Given the description of an element on the screen output the (x, y) to click on. 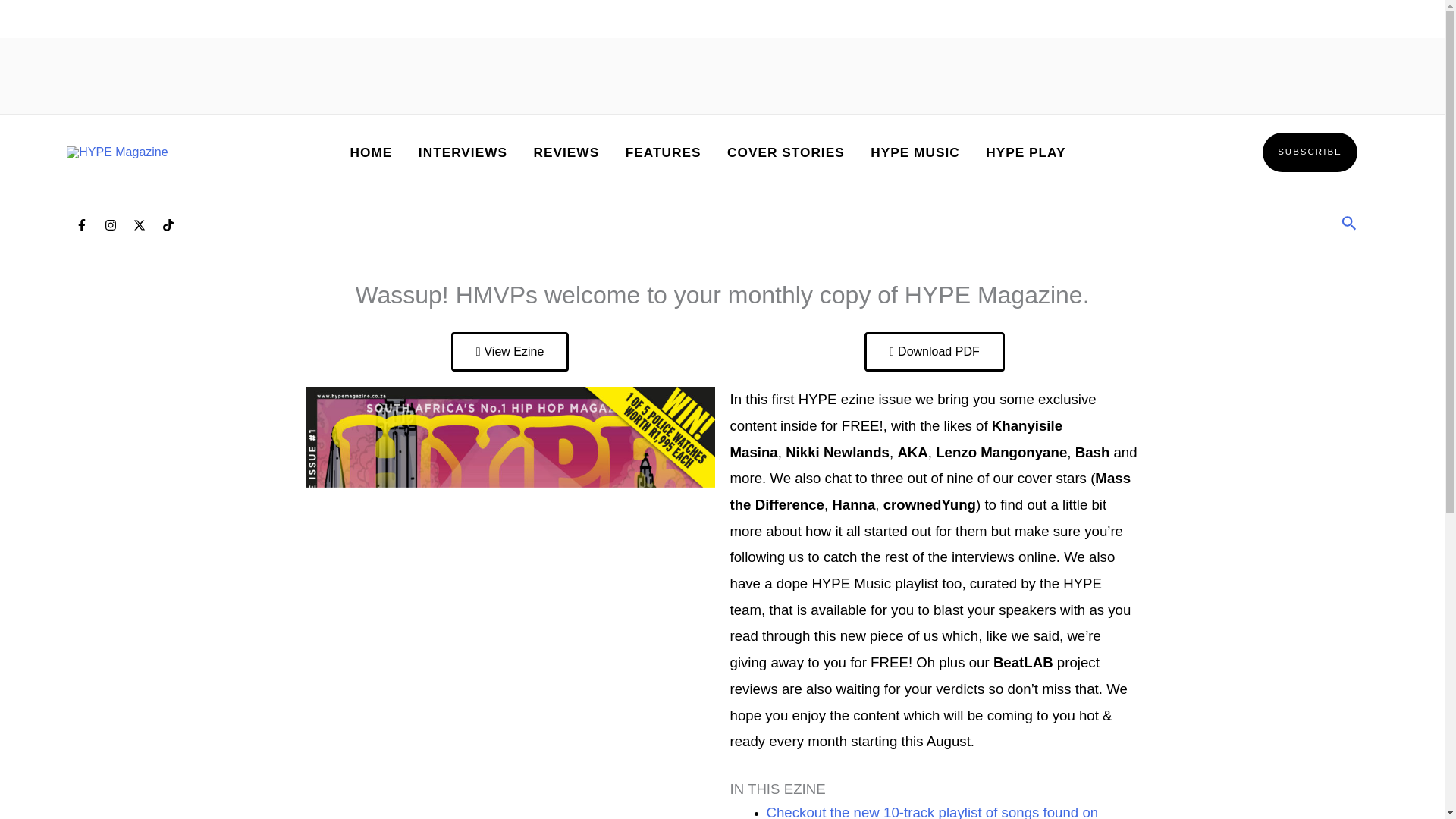
COVER STORIES (785, 152)
HYPE MUSIC (914, 152)
Download PDF (934, 351)
FEATURES (662, 152)
View Ezine (510, 351)
INTERVIEWS (463, 152)
SUBSCRIBE (1309, 151)
HOME (370, 152)
HYPE PLAY (1025, 152)
